Given the description of an element on the screen output the (x, y) to click on. 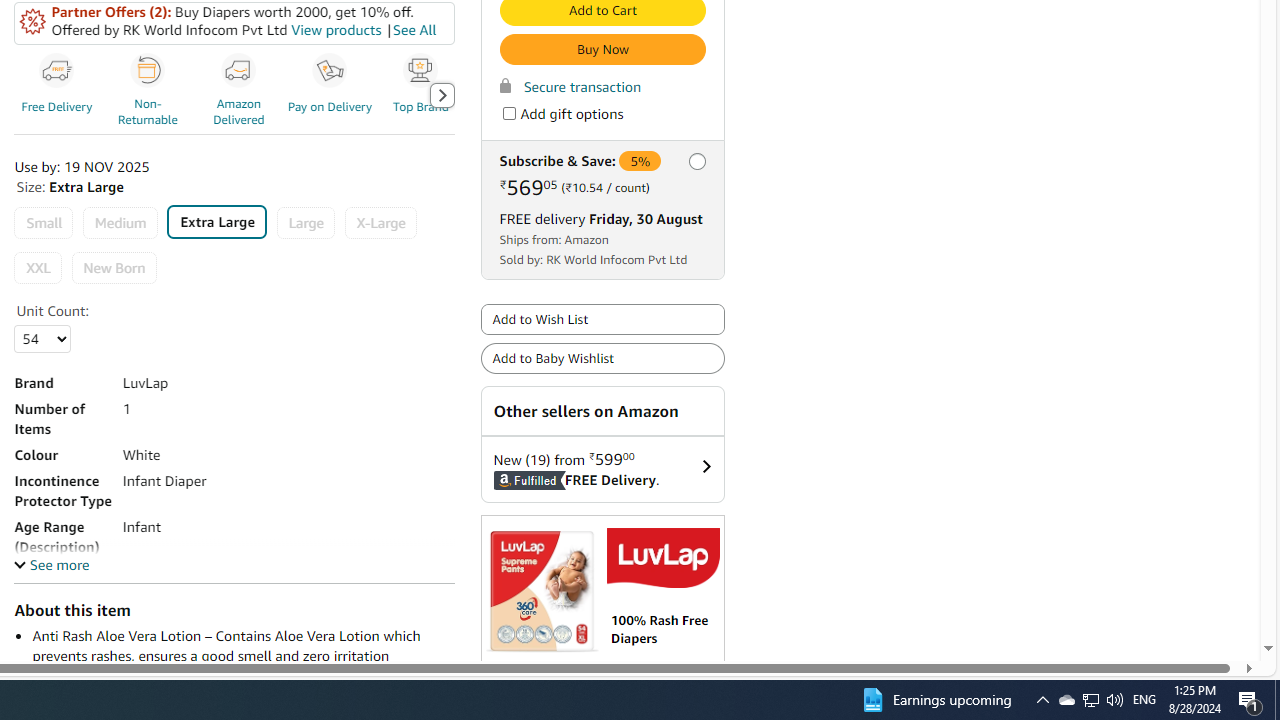
Non-Returnable (150, 94)
Small (43, 223)
|See All (410, 30)
Free Delivery (60, 94)
Large (305, 223)
Non-Returnable (148, 71)
Amazon Delivered (239, 71)
Amazon Delivered (241, 94)
Pay on Delivery (330, 71)
Add gift options (508, 113)
New Born (113, 267)
Medium (120, 223)
Logo (662, 557)
